Given the description of an element on the screen output the (x, y) to click on. 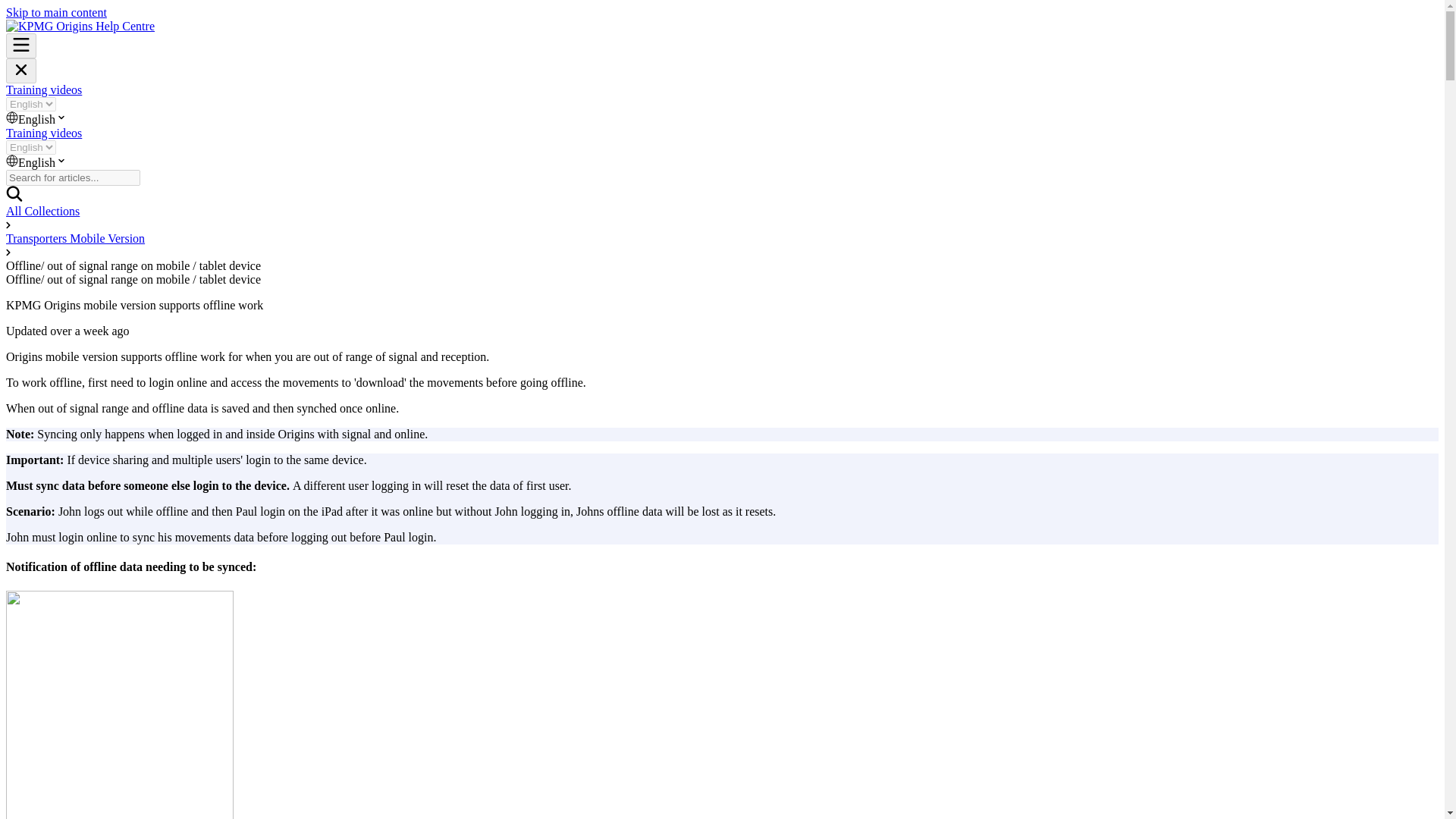
Training videos (43, 132)
Skip to main content (55, 11)
Transporters Mobile Version (74, 237)
All Collections (42, 210)
Training videos (43, 89)
